Given the description of an element on the screen output the (x, y) to click on. 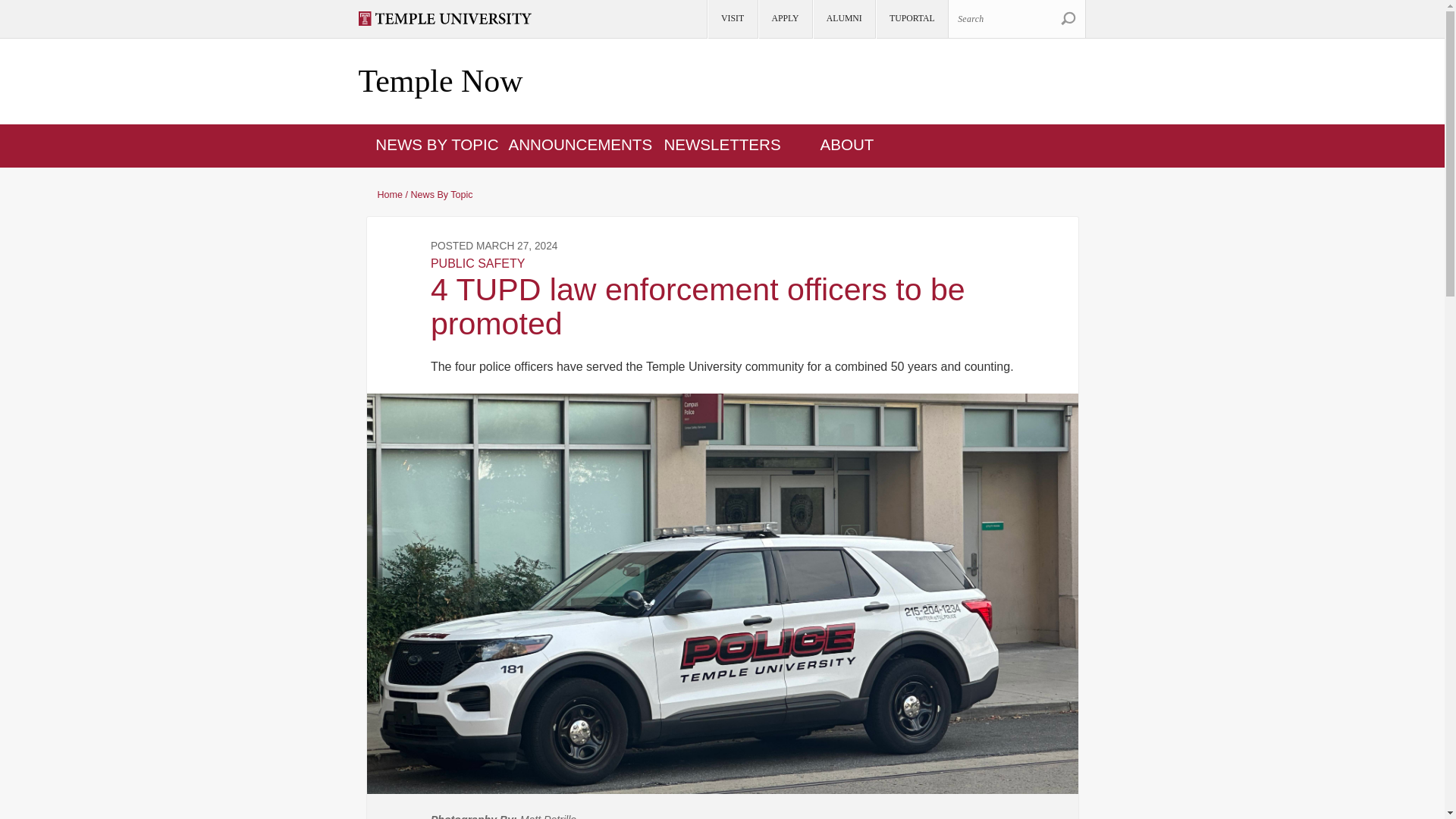
Search (1067, 18)
VISIT (731, 19)
Search Site (1067, 18)
APPLY (784, 19)
Home (440, 81)
TUPORTAL (911, 19)
ANNOUNCEMENTS (580, 144)
ABOUT (848, 144)
NEWSLETTERS (721, 144)
ALUMNI (843, 19)
Temple Now (440, 81)
Search (1067, 18)
Search (1016, 18)
Visit Temple.edu (451, 18)
NEWS BY TOPIC (436, 144)
